Given the description of an element on the screen output the (x, y) to click on. 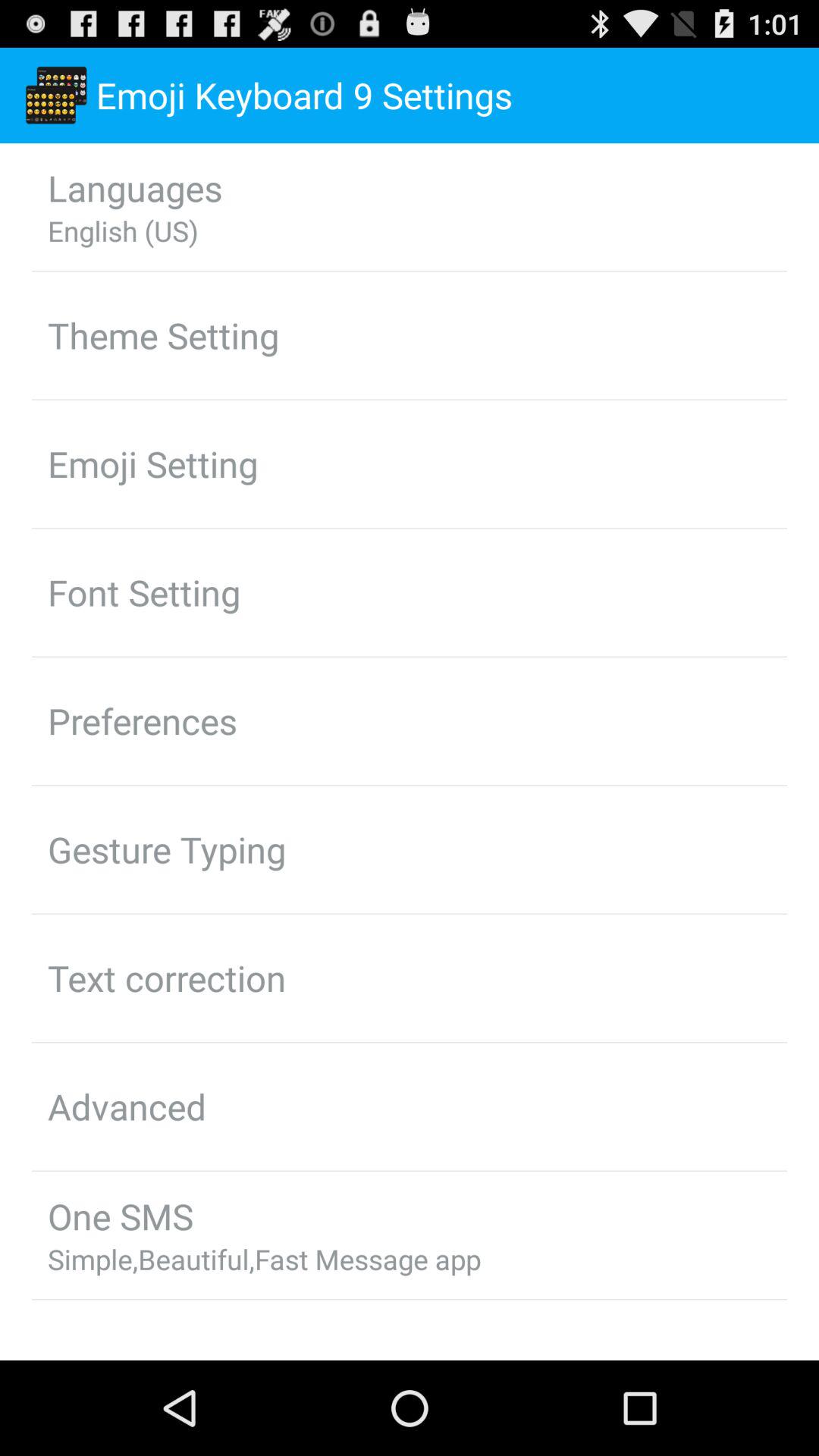
turn on the item below theme setting icon (152, 463)
